Given the description of an element on the screen output the (x, y) to click on. 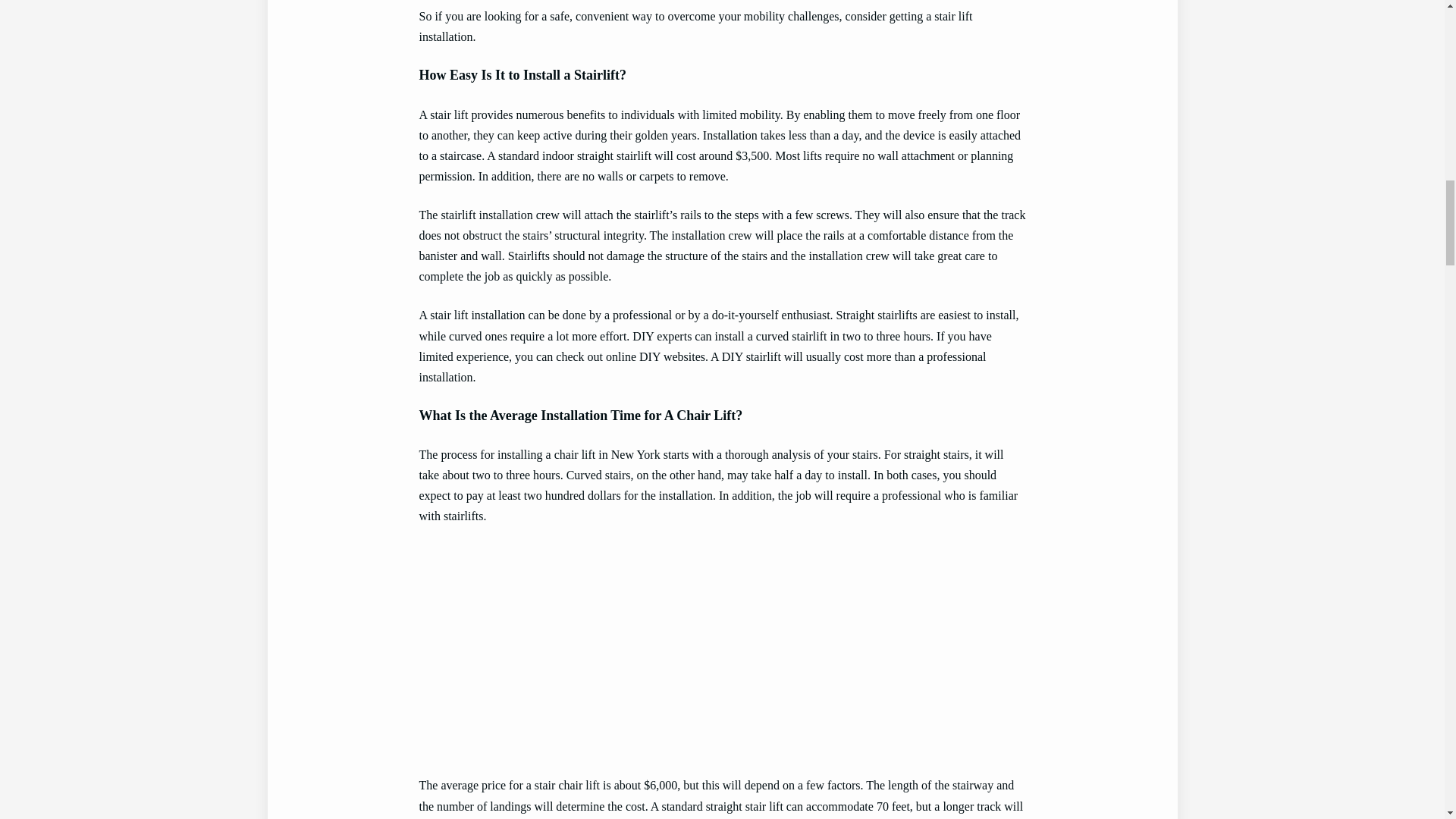
Advertisement (722, 650)
